Given the description of an element on the screen output the (x, y) to click on. 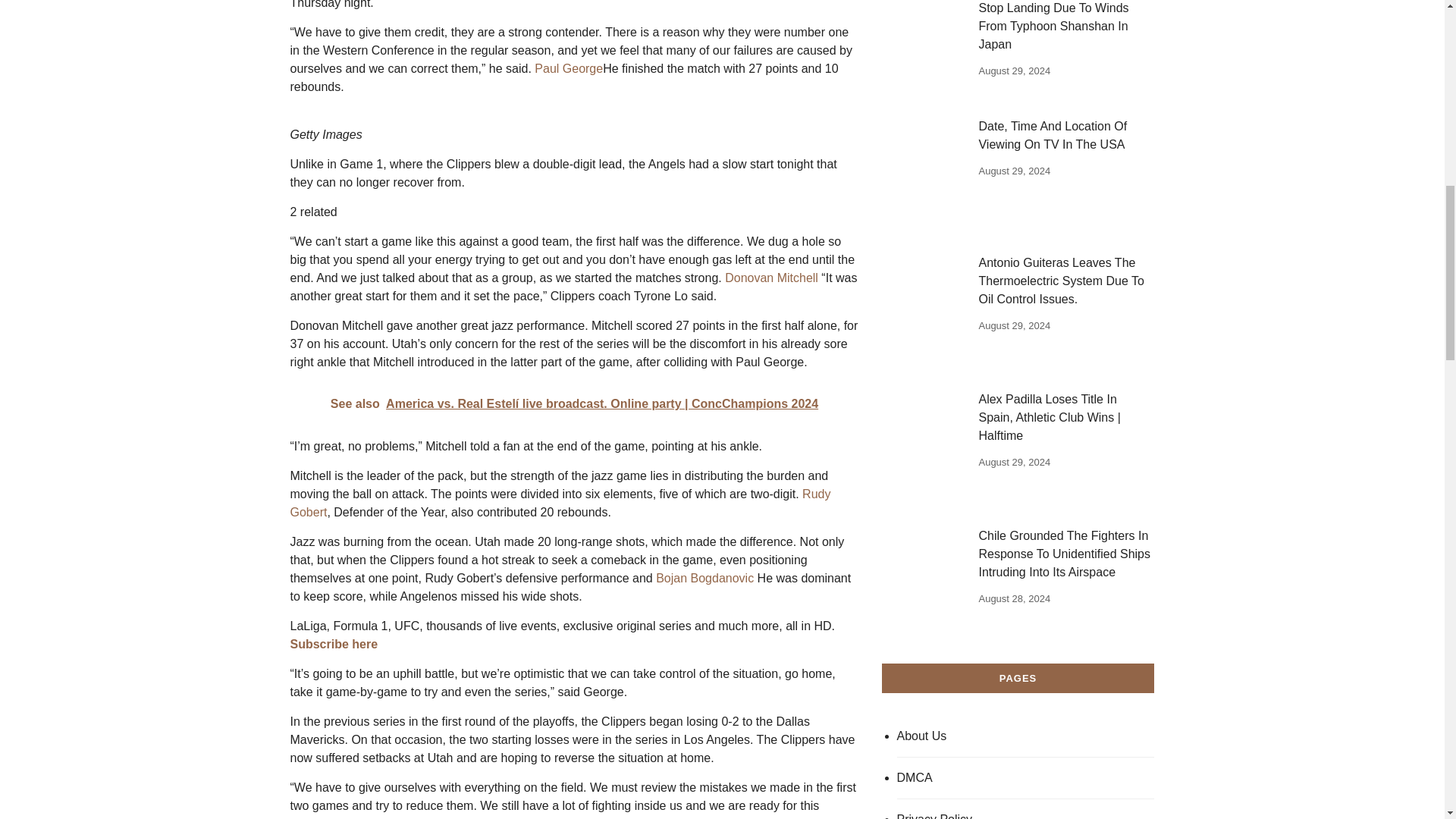
Subscribe here (333, 644)
Paul George (568, 68)
Donovan Mitchell (771, 277)
Bojan Bogdanovic (705, 577)
Rudy Gobert (559, 502)
Kohi Leonard (388, 818)
